Given the description of an element on the screen output the (x, y) to click on. 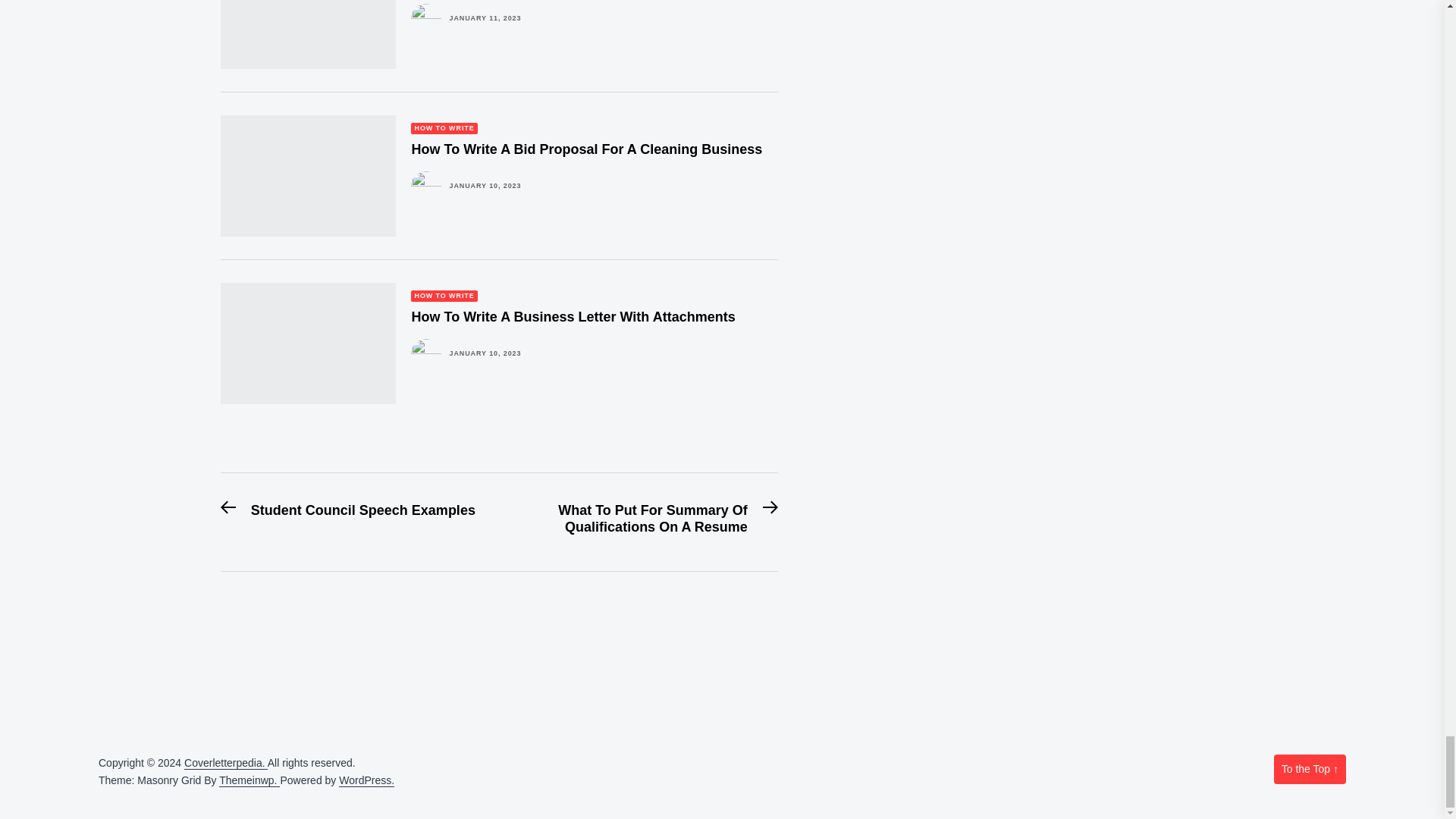
Themeinwp (249, 780)
WordPress (366, 780)
Coverletterpedia (225, 762)
